Given the description of an element on the screen output the (x, y) to click on. 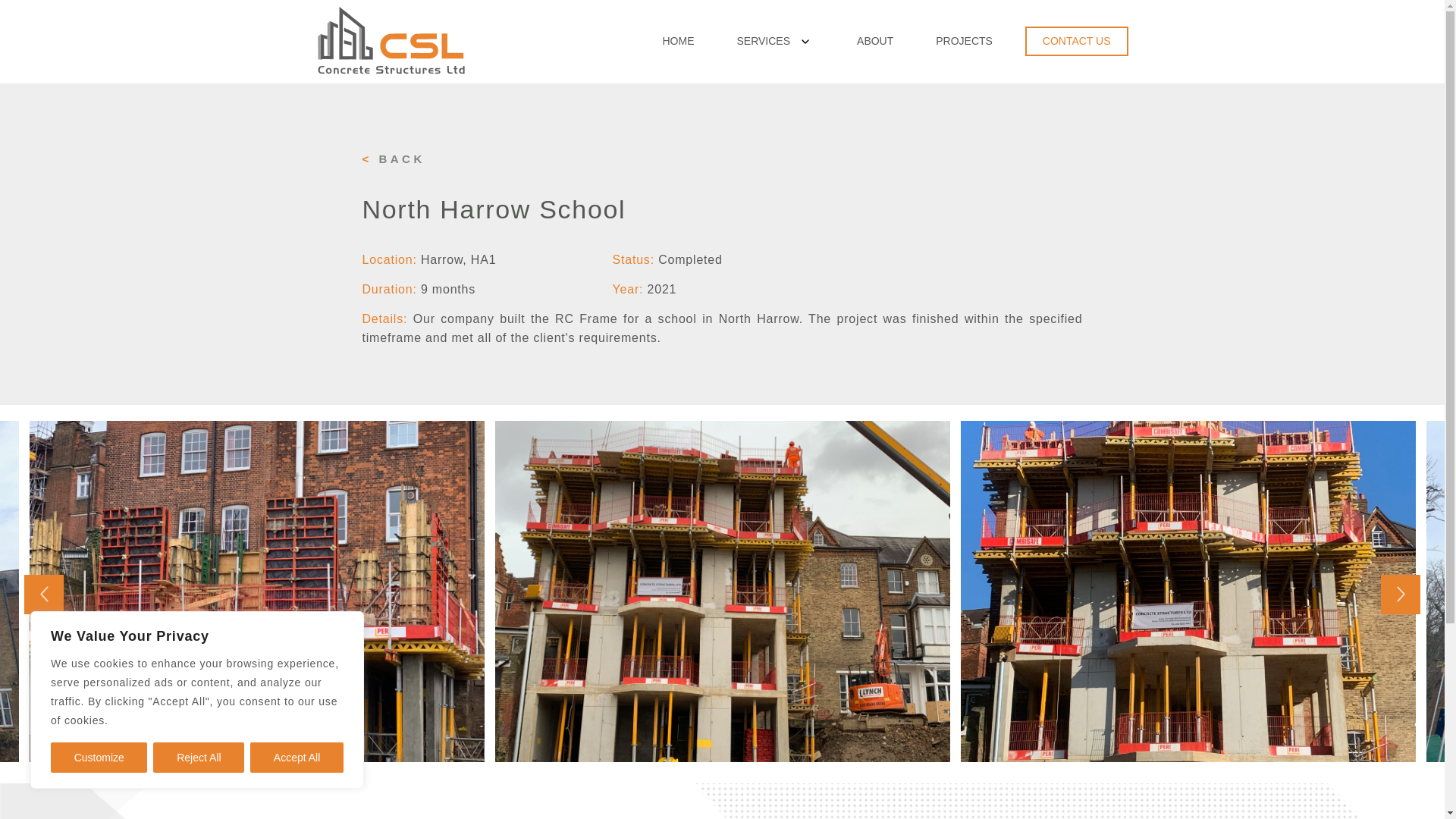
Reject All (198, 757)
ABOUT (875, 41)
Customize (98, 757)
Accept All (296, 757)
SERVICES (763, 41)
CONTACT US (1076, 41)
HOME (678, 41)
PROJECTS (964, 41)
Concrete Structures Ltd (346, 103)
Previous (44, 594)
